Given the description of an element on the screen output the (x, y) to click on. 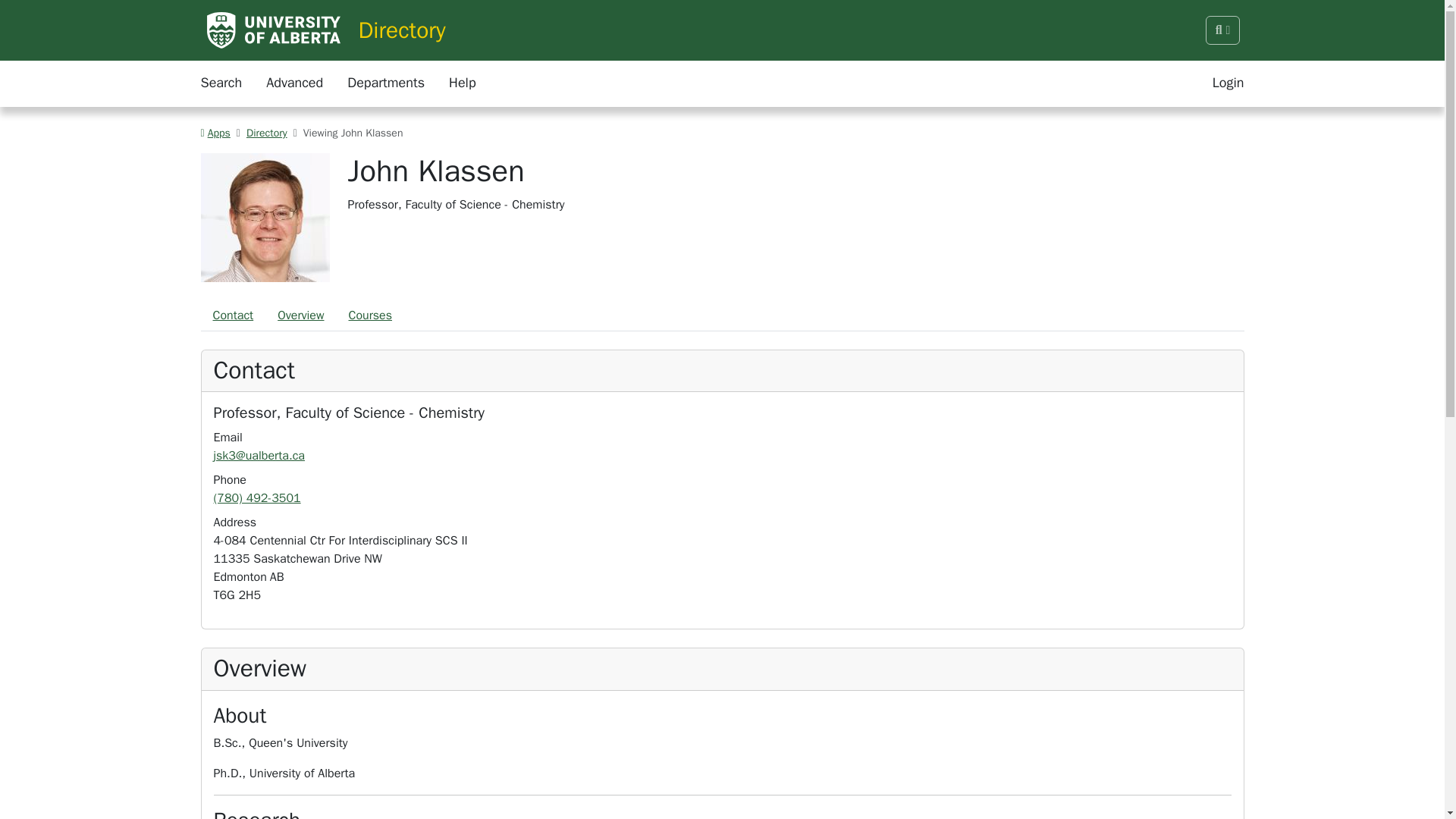
Apps (215, 132)
Search and More (1222, 30)
Advanced (294, 83)
Login (1228, 83)
Contact (232, 315)
Courses (370, 315)
Departments (386, 83)
Search (220, 83)
Directory (266, 132)
Overview (300, 315)
